Given the description of an element on the screen output the (x, y) to click on. 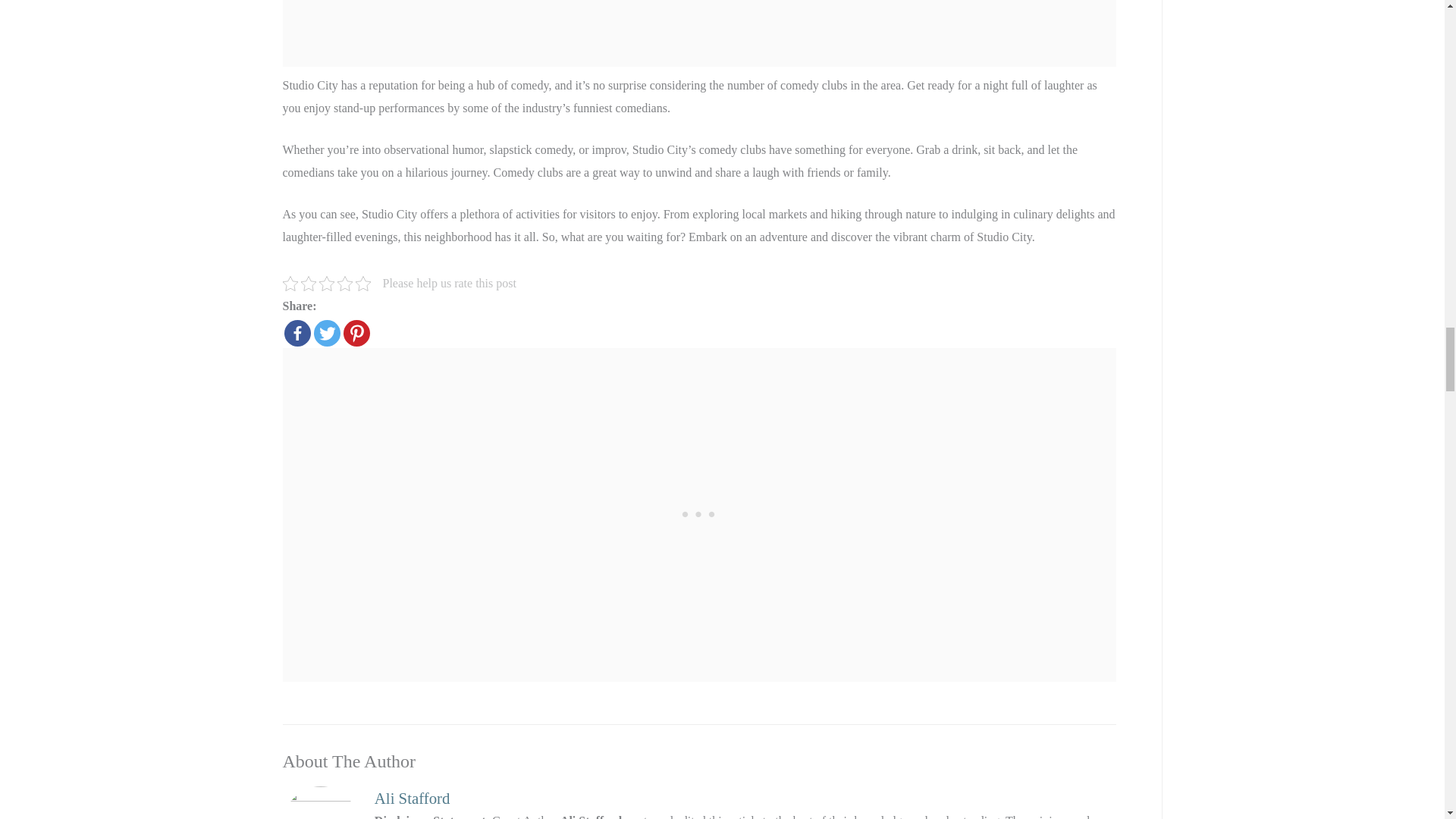
Twitter (327, 333)
Pinterest (355, 333)
Facebook (296, 333)
